Given the description of an element on the screen output the (x, y) to click on. 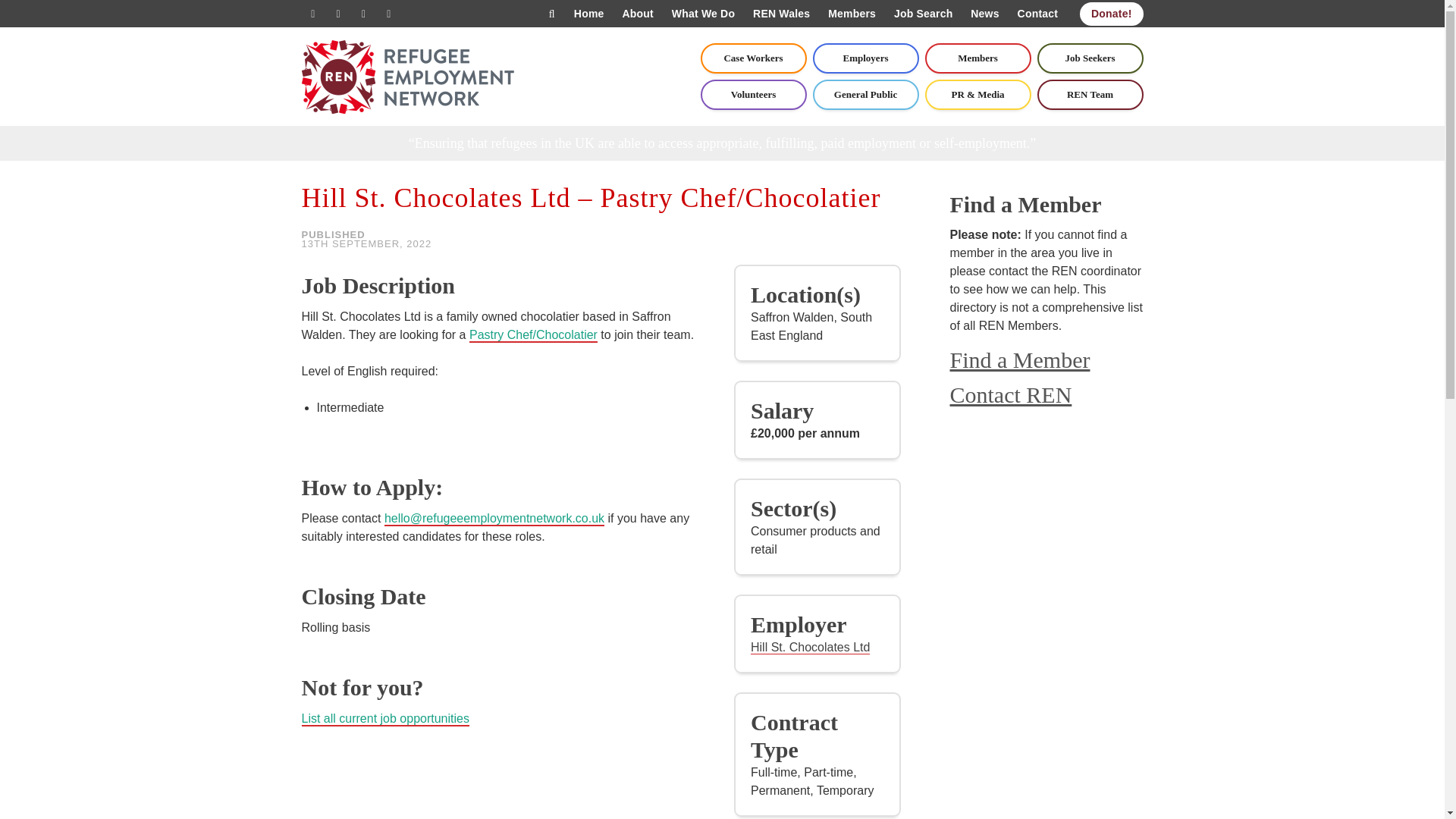
Refugee Employment Network on Instagram (388, 14)
REN Team (1090, 94)
News (984, 13)
Job Search (922, 13)
Contact (1037, 13)
Donate! (1111, 13)
Case Workers (753, 58)
General Public (865, 94)
About (637, 13)
REN Wales (780, 13)
